Given the description of an element on the screen output the (x, y) to click on. 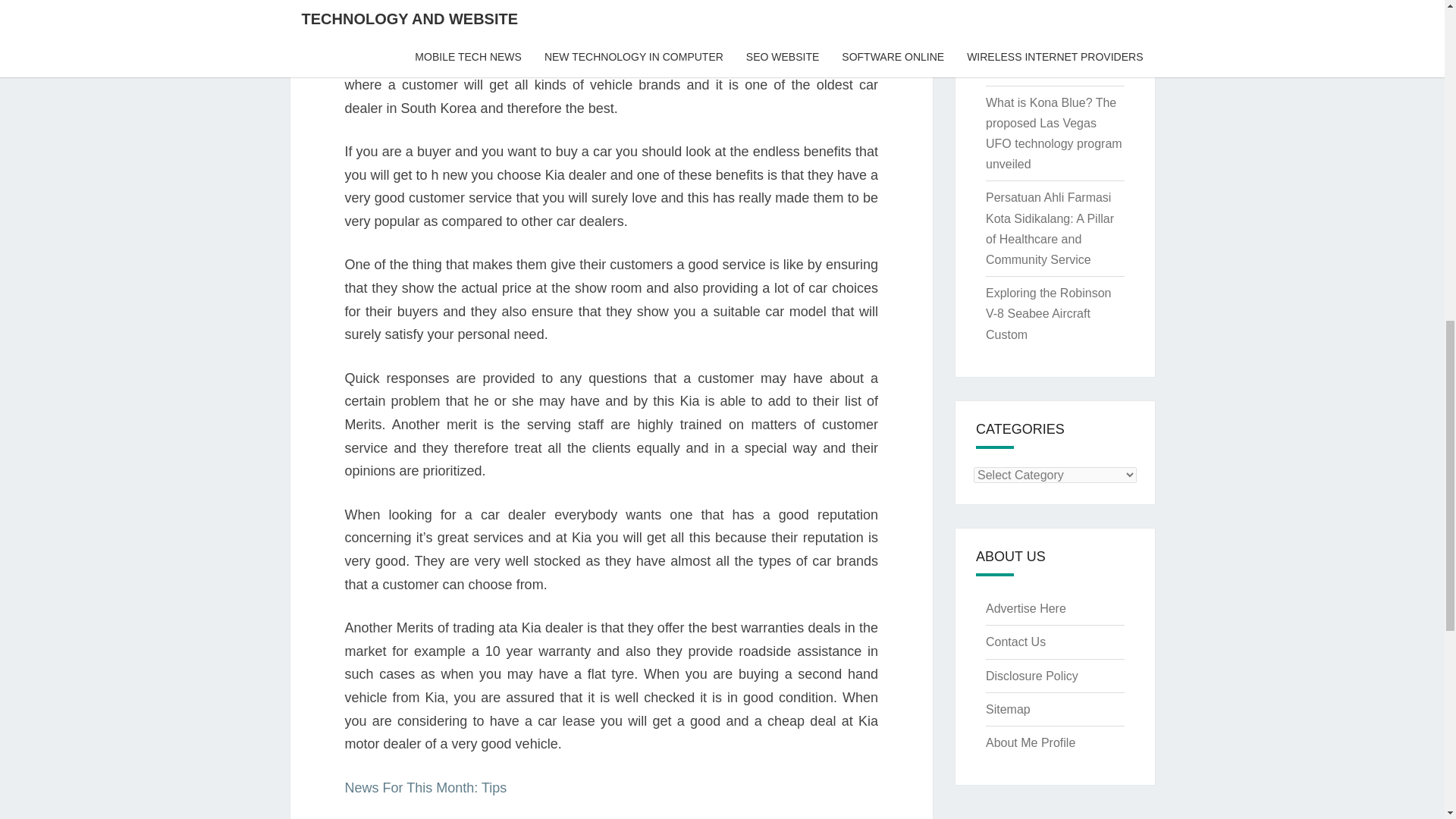
Sitemap (1007, 708)
News For This Month: Tips (424, 787)
Exploring the Robinson V-8 Seabee Aircraft Custom (1047, 313)
About Me Profile (1030, 742)
Advertise Here (1025, 608)
Disclosure Policy (1031, 675)
Contact Us (1015, 641)
